Given the description of an element on the screen output the (x, y) to click on. 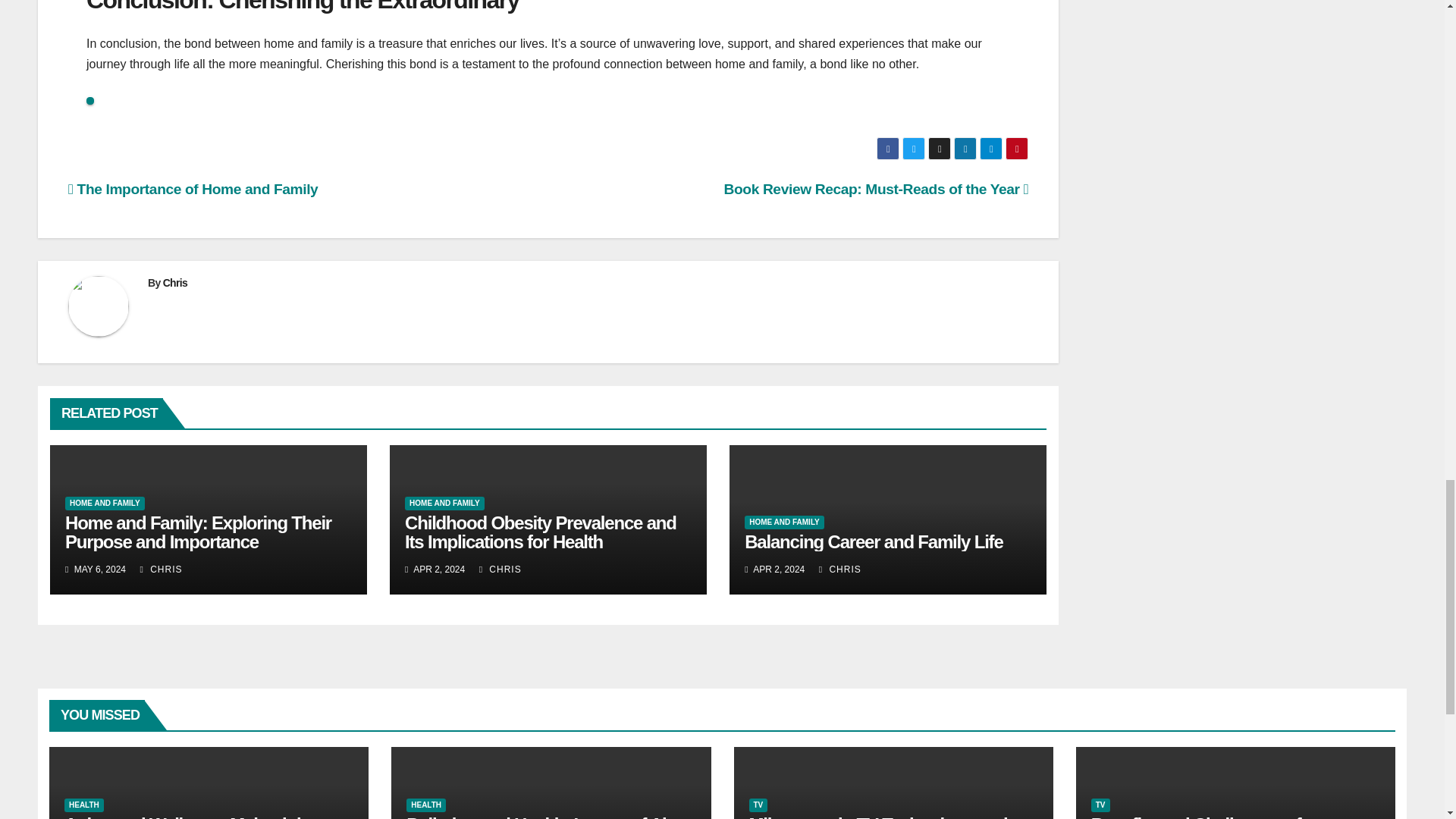
Chris (175, 282)
Home and Family: Exploring Their Purpose and Importance (198, 532)
CHRIS (160, 569)
Book Review Recap: Must-Reads of the Year (876, 188)
The Importance of Home and Family (192, 188)
Permalink to: Milestones in TV Technology and Programming (878, 816)
